Given the description of an element on the screen output the (x, y) to click on. 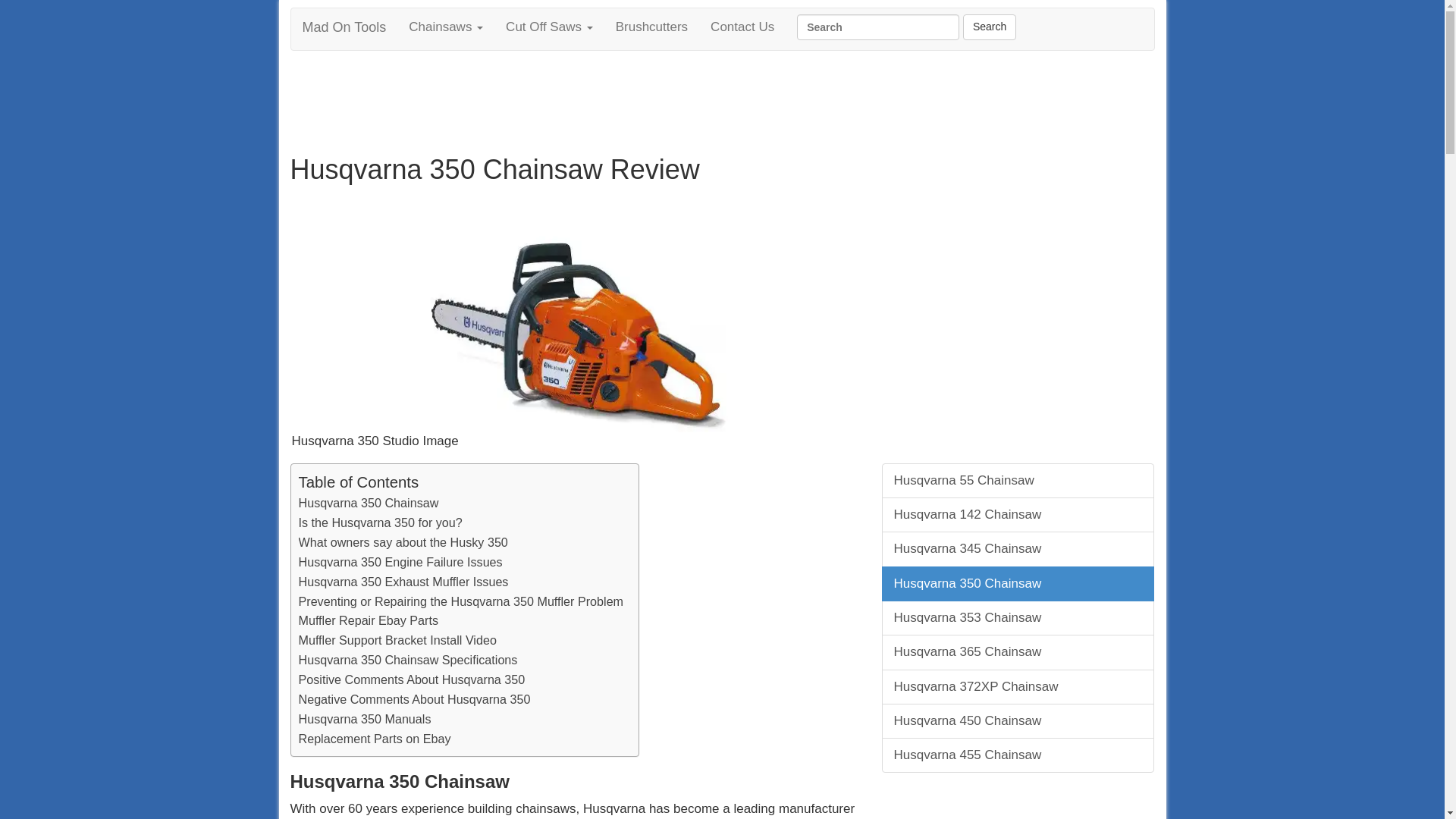
 Husqvarna 350 Chainsaw Specifications  (408, 660)
What owners say about the Husky 350 (403, 542)
Husqvarna 350 Manuals (364, 719)
Advertisement (574, 100)
Muffler Repair Ebay Parts (368, 620)
Muffler Repair Ebay Parts (368, 620)
What owners say about the Husky 350 (403, 542)
Positive Comments About Husqvarna 350 (411, 680)
Brushcutters (651, 26)
Husqvarna 350 Exhaust Muffler Issues (403, 582)
Husqvarna 350 Exhaust Muffler Issues (403, 582)
Search (877, 27)
Husqvarna 350 Engine Failure Issues (400, 562)
Negative Comments About Husqvarna 350 (414, 700)
Is the Husqvarna 350 for you? (380, 523)
